Given the description of an element on the screen output the (x, y) to click on. 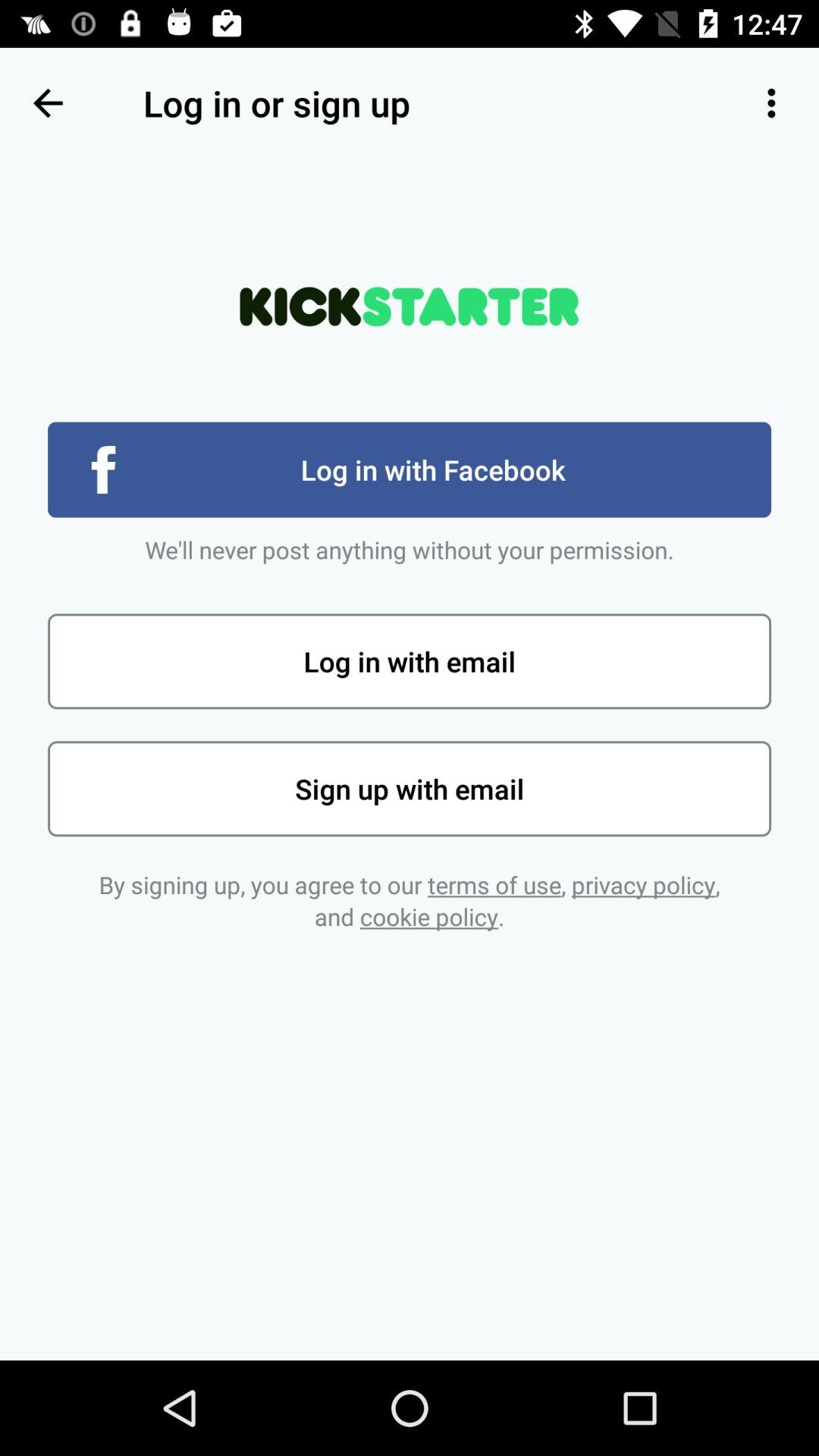
launch icon next to log in or item (771, 103)
